Given the description of an element on the screen output the (x, y) to click on. 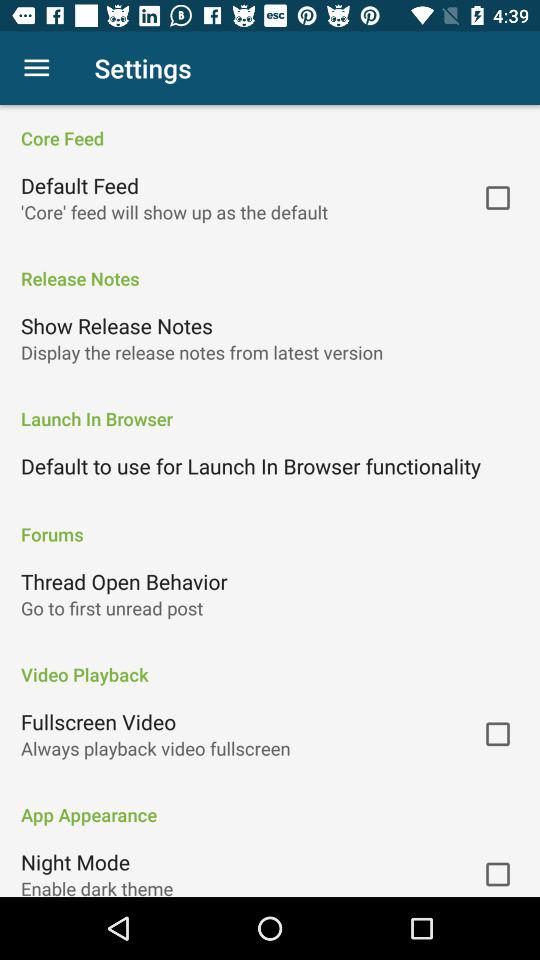
scroll to the night mode item (75, 861)
